Given the description of an element on the screen output the (x, y) to click on. 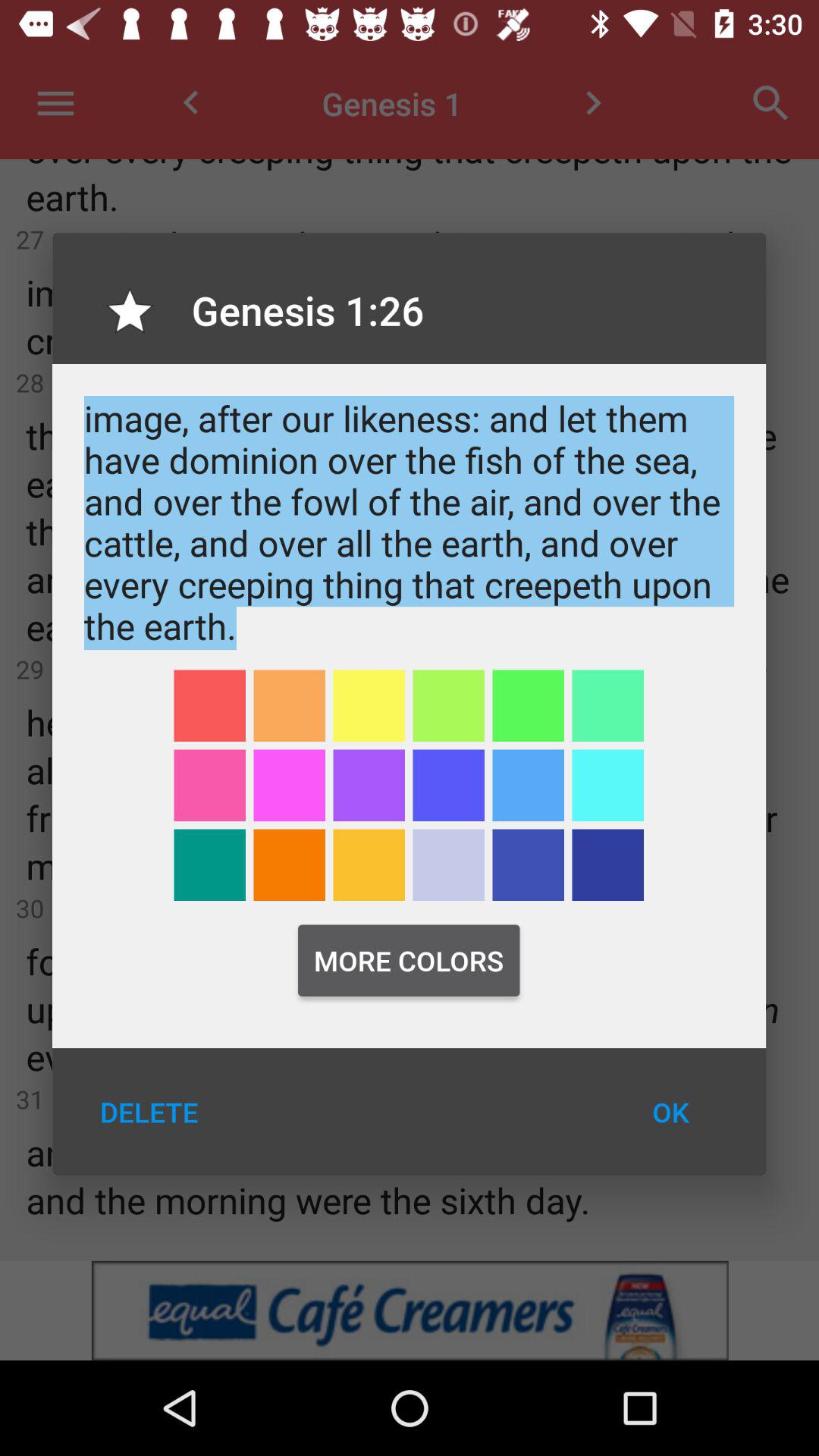
select background color (528, 705)
